Given the description of an element on the screen output the (x, y) to click on. 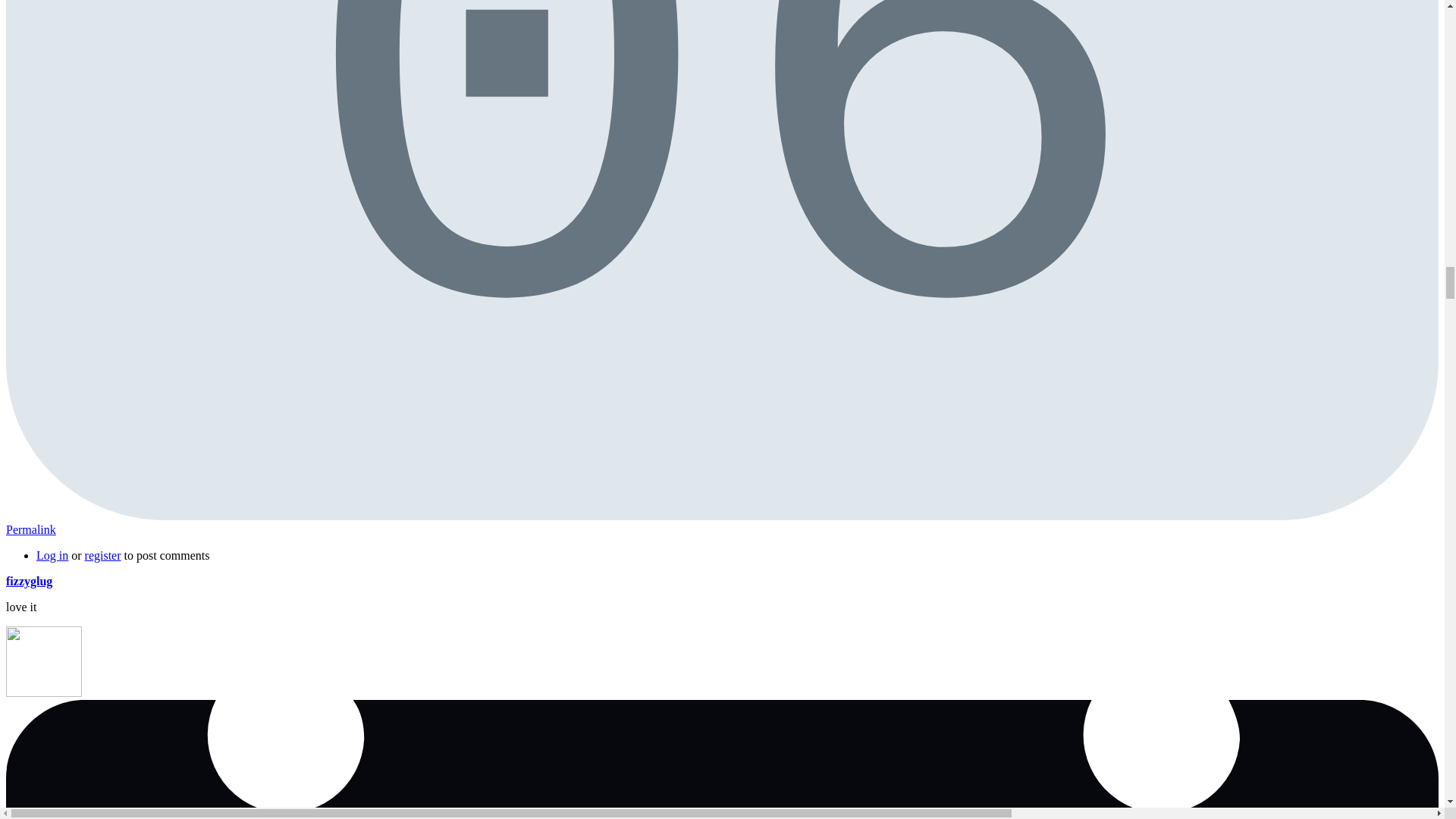
Log in (52, 554)
View user profile. (28, 581)
fizzyglug (28, 581)
Permalink (30, 529)
